Given the description of an element on the screen output the (x, y) to click on. 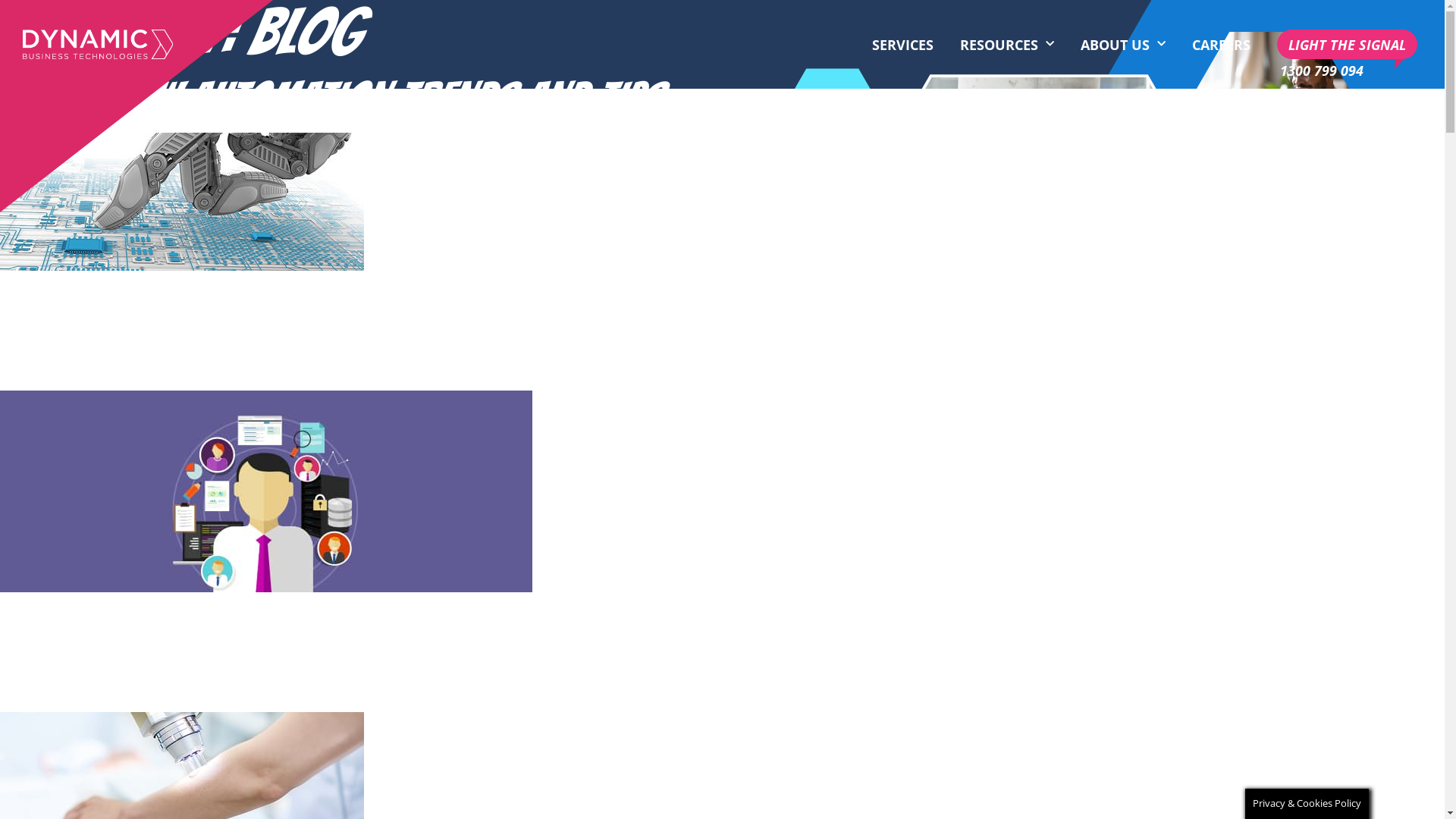
5 QUALITIES & SKILLS OF AN EFFECTIVE CIO Element type: text (324, 356)
RESOURCES Element type: text (1007, 44)
LIGHT THE SIGNAL Element type: text (1347, 44)
WORKFLOW AUTOMATION TRENDS AND TIPS Element type: text (329, 98)
CAREERS Element type: text (1221, 44)
DYNAMIC ASSISTS CLINICS WITH DATA BACKUP Element type: text (352, 677)
SERVICES Element type: text (902, 44)
1300 799 094 Element type: text (1321, 69)
ABOUT US Element type: text (1122, 44)
